Given the description of an element on the screen output the (x, y) to click on. 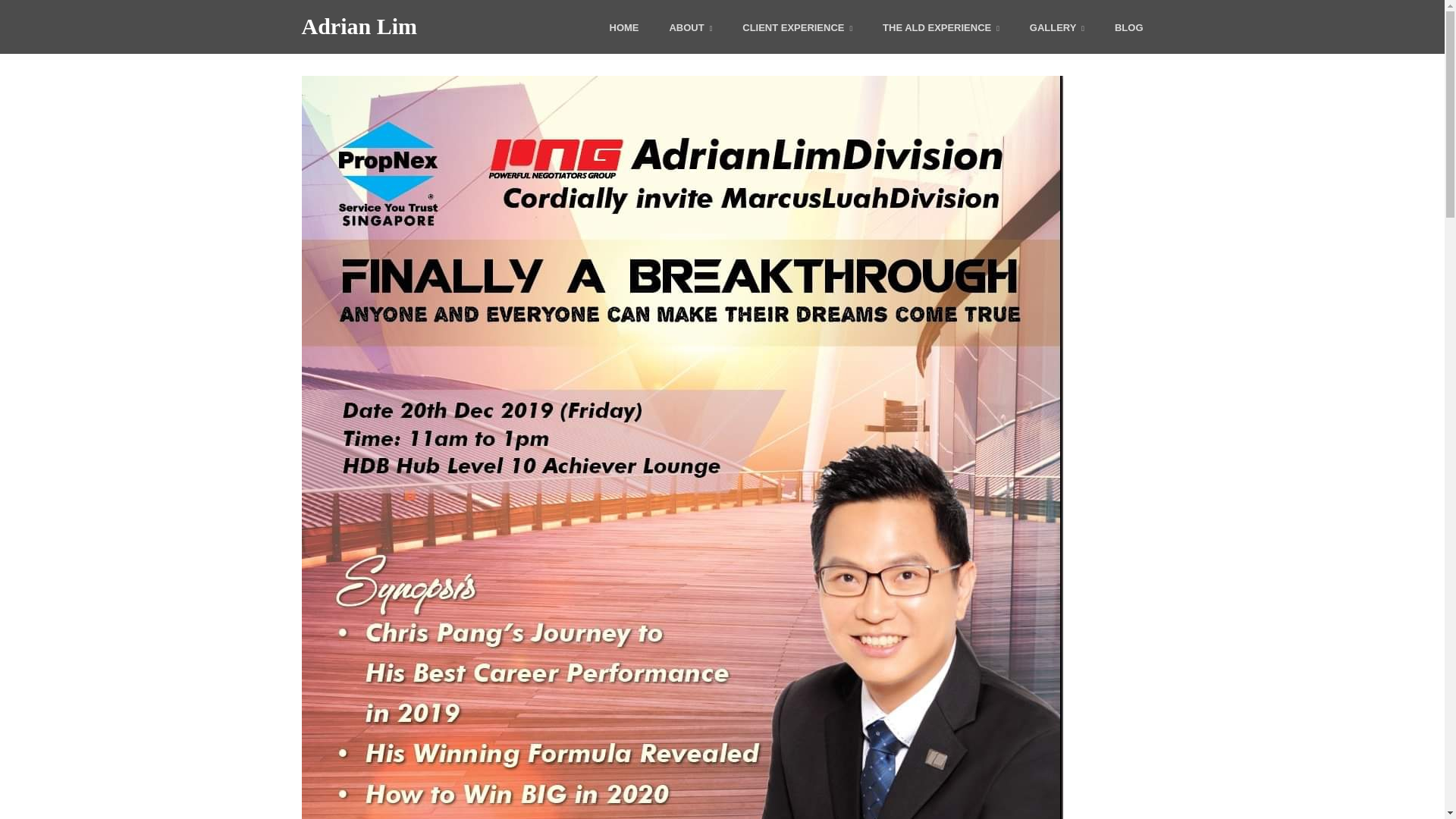
THE ALD EXPERIENCE (940, 28)
GALLERY (1056, 28)
HOME (624, 28)
ABOUT (689, 28)
Adrian Lim (359, 26)
BLOG (1128, 28)
CLIENT EXPERIENCE (796, 28)
